Given the description of an element on the screen output the (x, y) to click on. 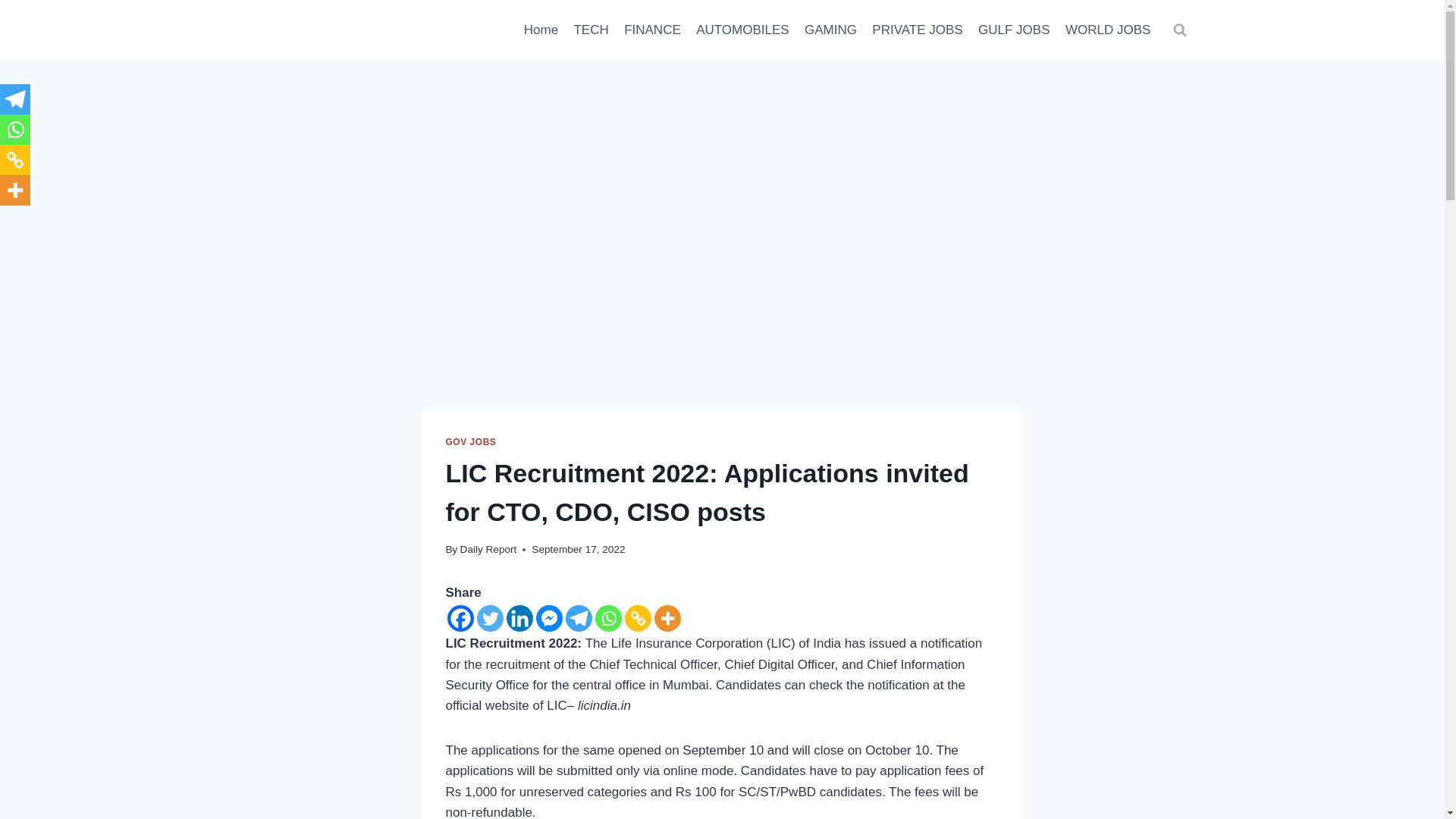
Telegram (579, 618)
Daily Report (488, 549)
Twitter (489, 618)
WORLD JOBS (1108, 30)
Telegram (15, 99)
PRIVATE JOBS (917, 30)
GAMING (830, 30)
More (15, 190)
Linkedin (519, 618)
FINANCE (651, 30)
More (666, 618)
TECH (590, 30)
GOV JOBS (470, 441)
Whatsapp (15, 129)
Copy Link (15, 159)
